Given the description of an element on the screen output the (x, y) to click on. 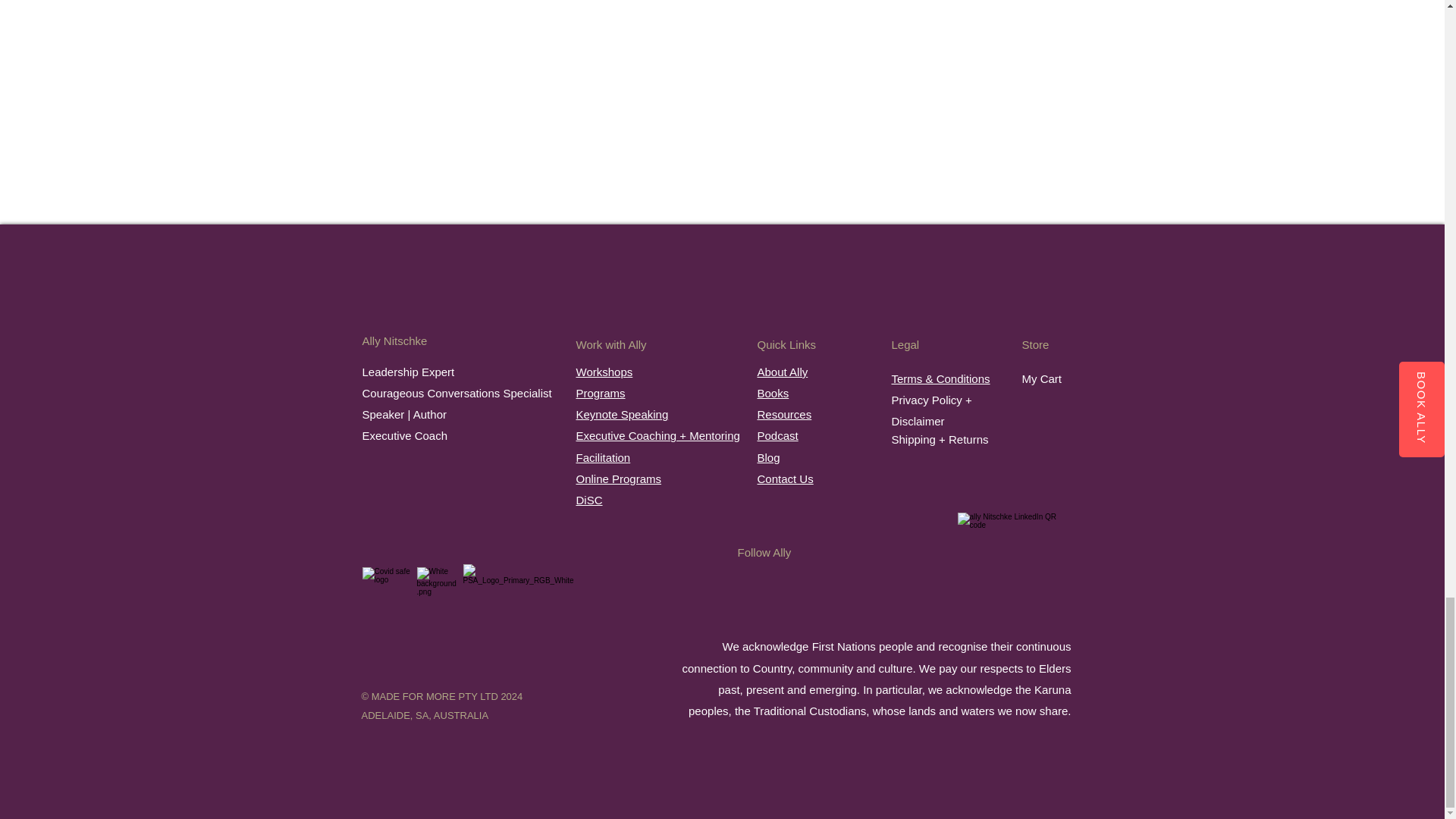
Workshops (604, 371)
Programs (601, 392)
